Given the description of an element on the screen output the (x, y) to click on. 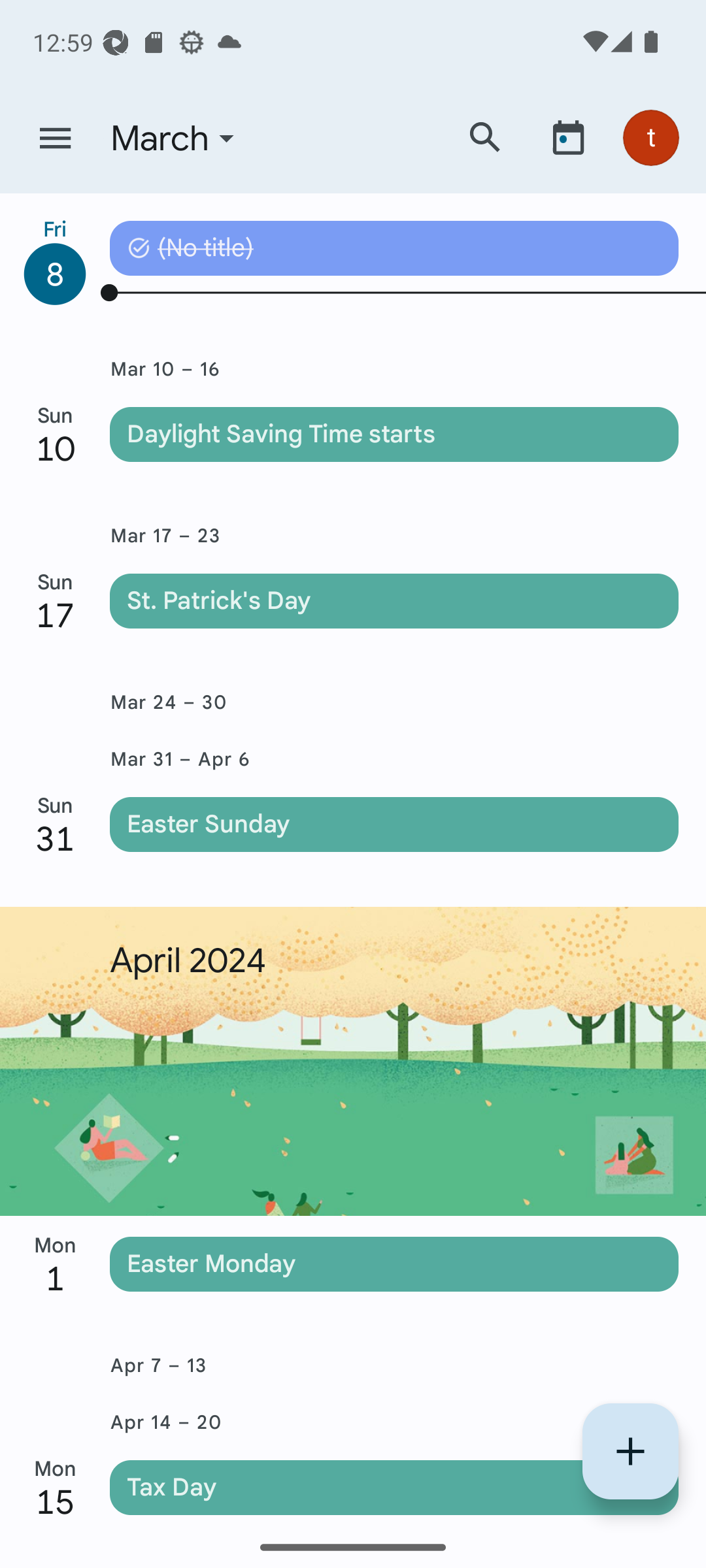
Show Calendar List and Settings drawer (55, 138)
March, Show date picker March (270, 138)
Search (485, 137)
Jump to Today (567, 137)
Create new event and more (630, 1451)
